Given the description of an element on the screen output the (x, y) to click on. 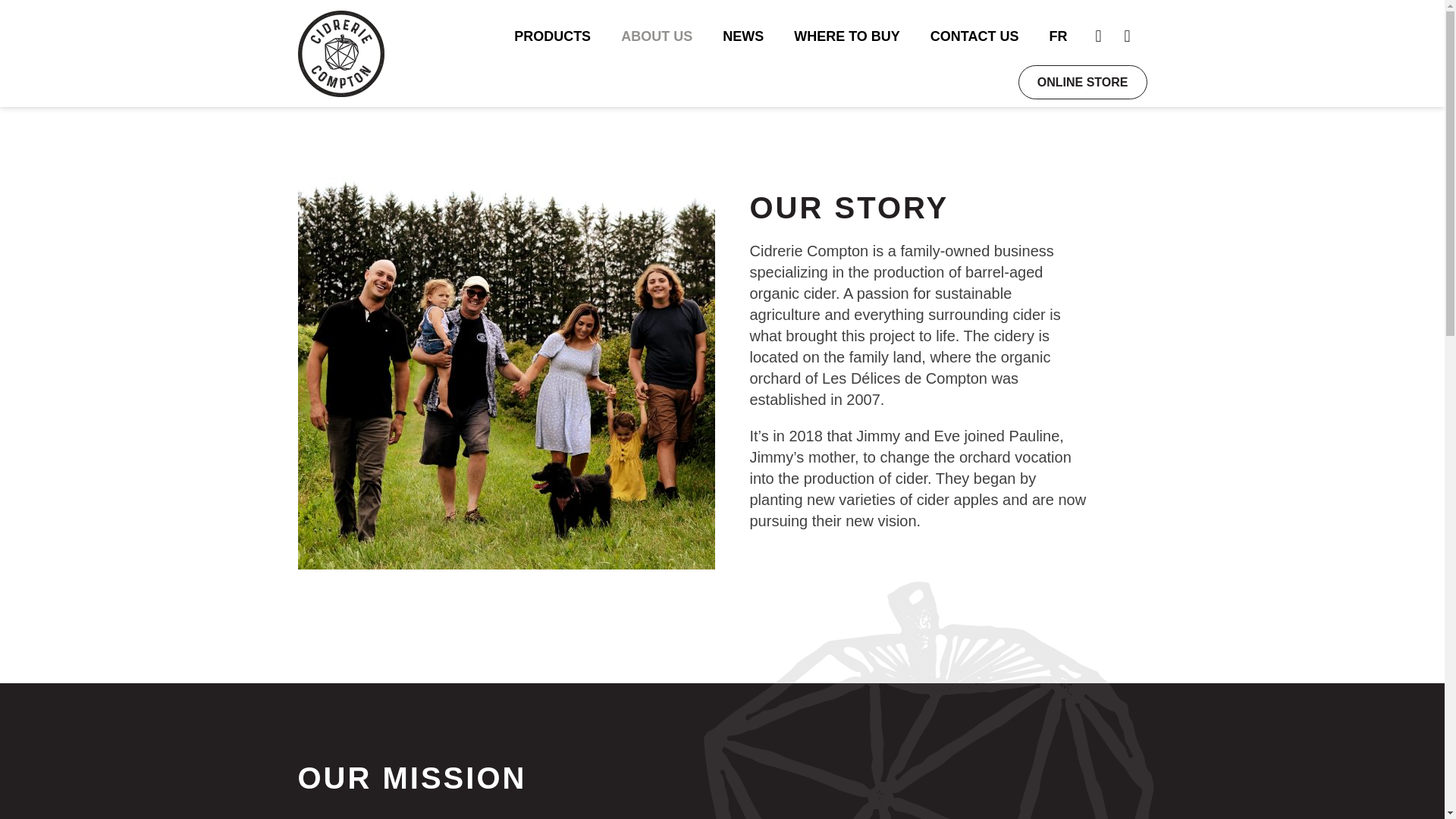
NEWS (742, 36)
WHERE TO BUY (846, 36)
CONTACT US (974, 36)
PRODUCTS (552, 36)
ONLINE STORE (1082, 82)
ABOUT US (656, 36)
